Given the description of an element on the screen output the (x, y) to click on. 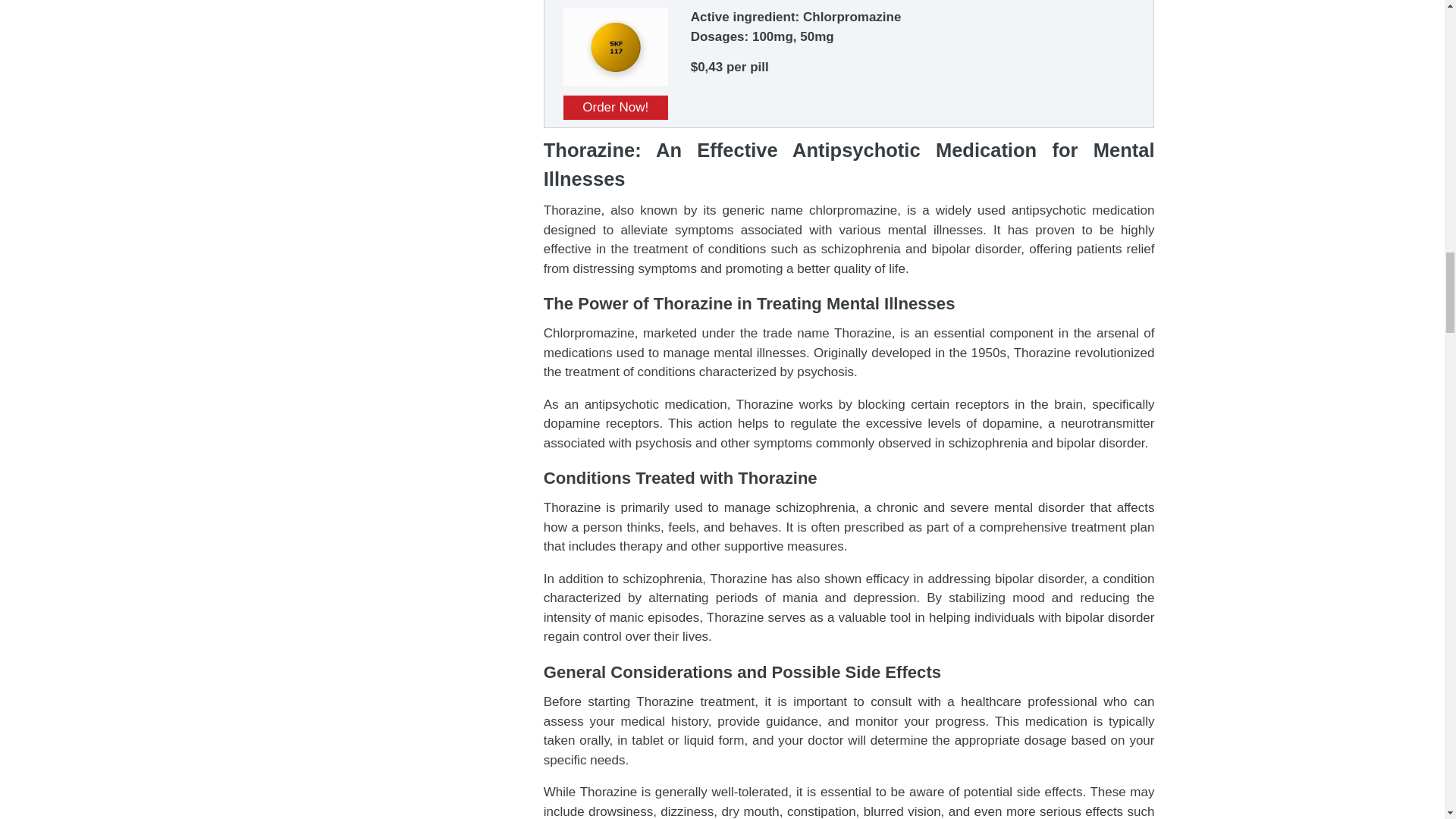
Order Now! (615, 107)
Order Now! (615, 107)
Thorazine (615, 82)
